Given the description of an element on the screen output the (x, y) to click on. 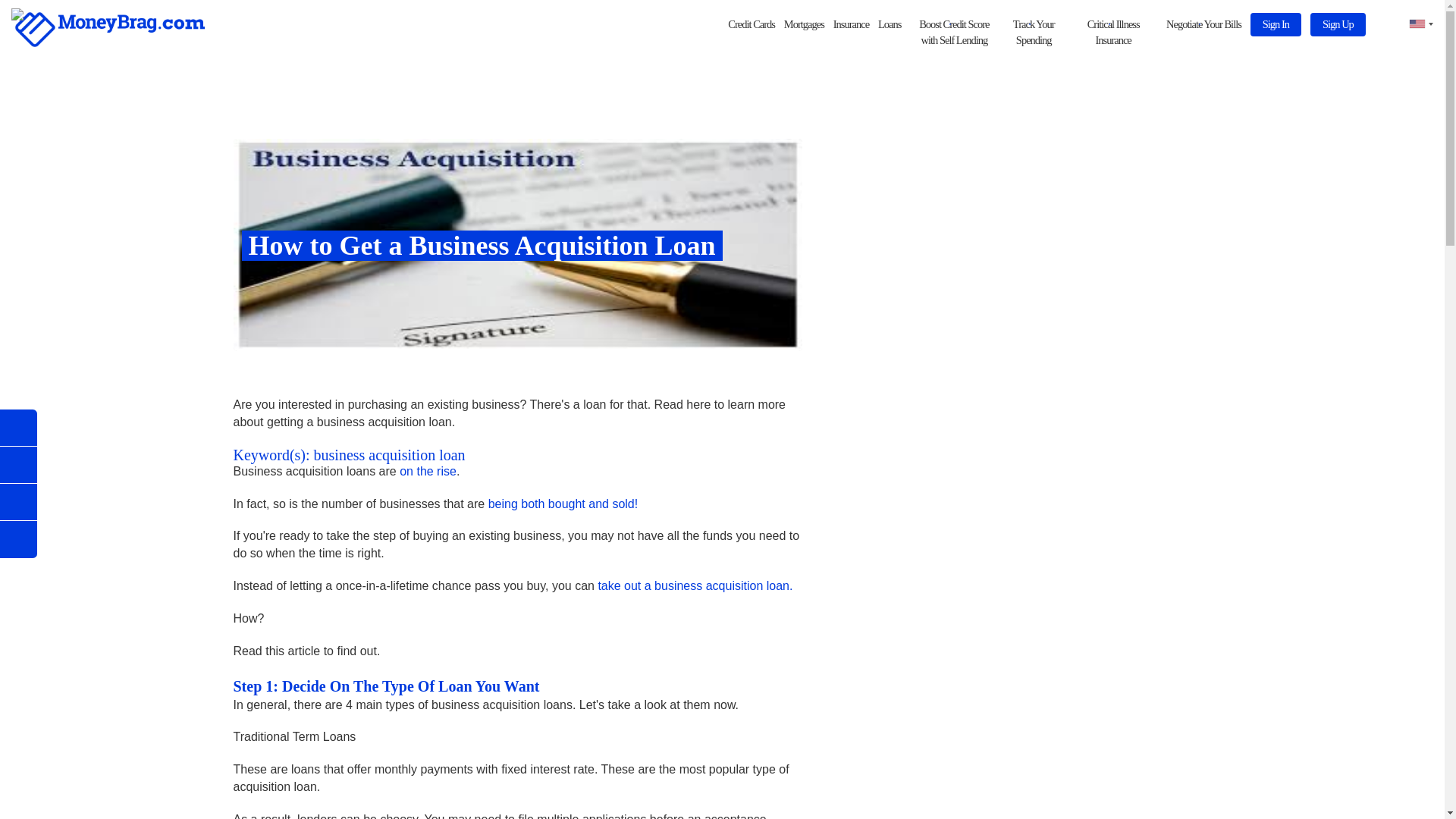
Share to Twitter (18, 502)
Share to Email (18, 465)
United States (1414, 24)
Credit Cards (751, 24)
translation missing: en.Critical illness Insurance (1113, 31)
Share to Facebook (18, 427)
